Given the description of an element on the screen output the (x, y) to click on. 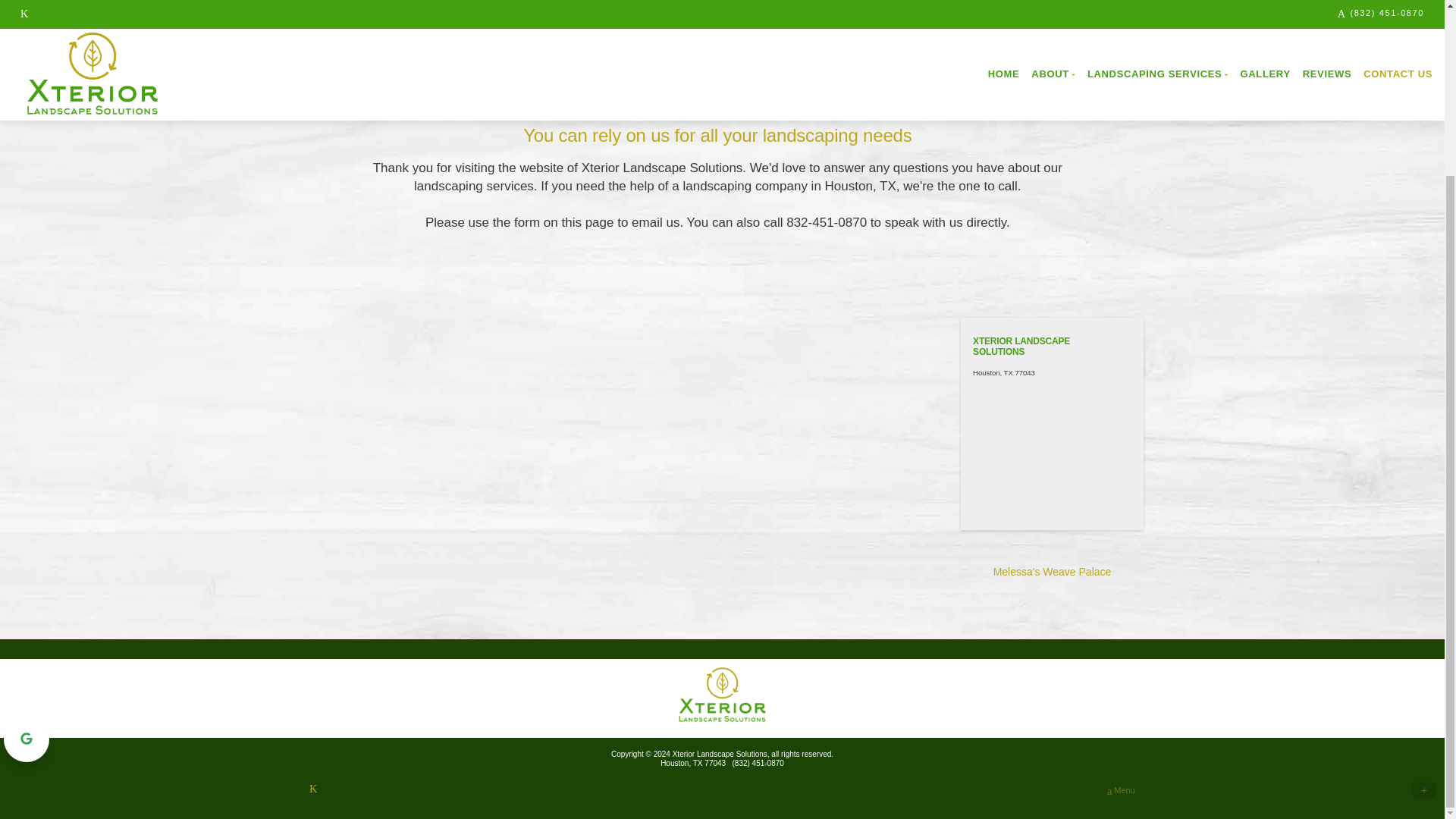
Melessa's Weave Palace (1052, 571)
Open Menu (1120, 790)
Menu (1120, 790)
Facebook (312, 788)
Xterior Landscape Solutions (721, 695)
